Given the description of an element on the screen output the (x, y) to click on. 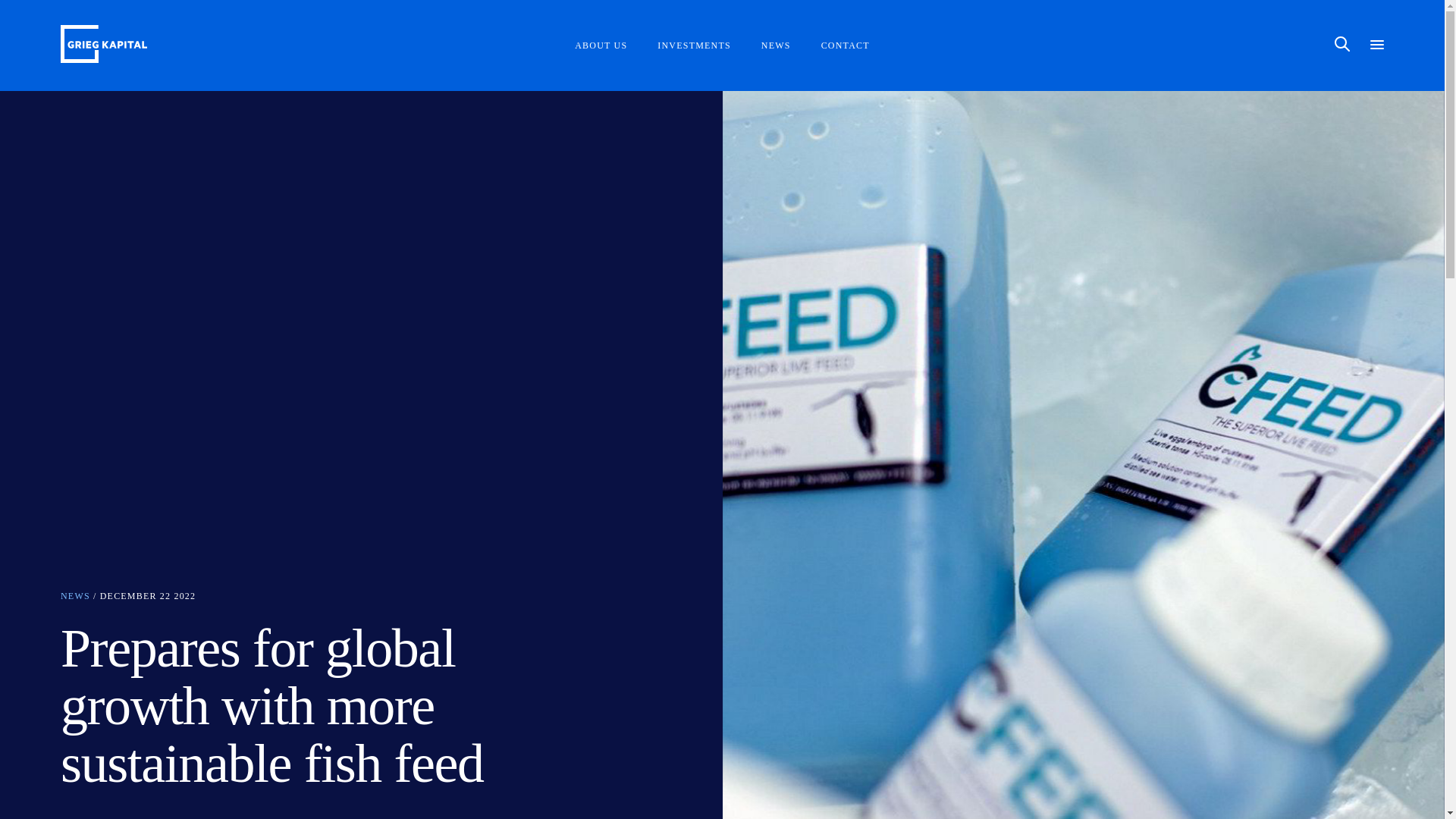
NEWS (775, 46)
INVESTMENTS (694, 46)
ABOUT US (601, 46)
CONTACT (845, 46)
